Given the description of an element on the screen output the (x, y) to click on. 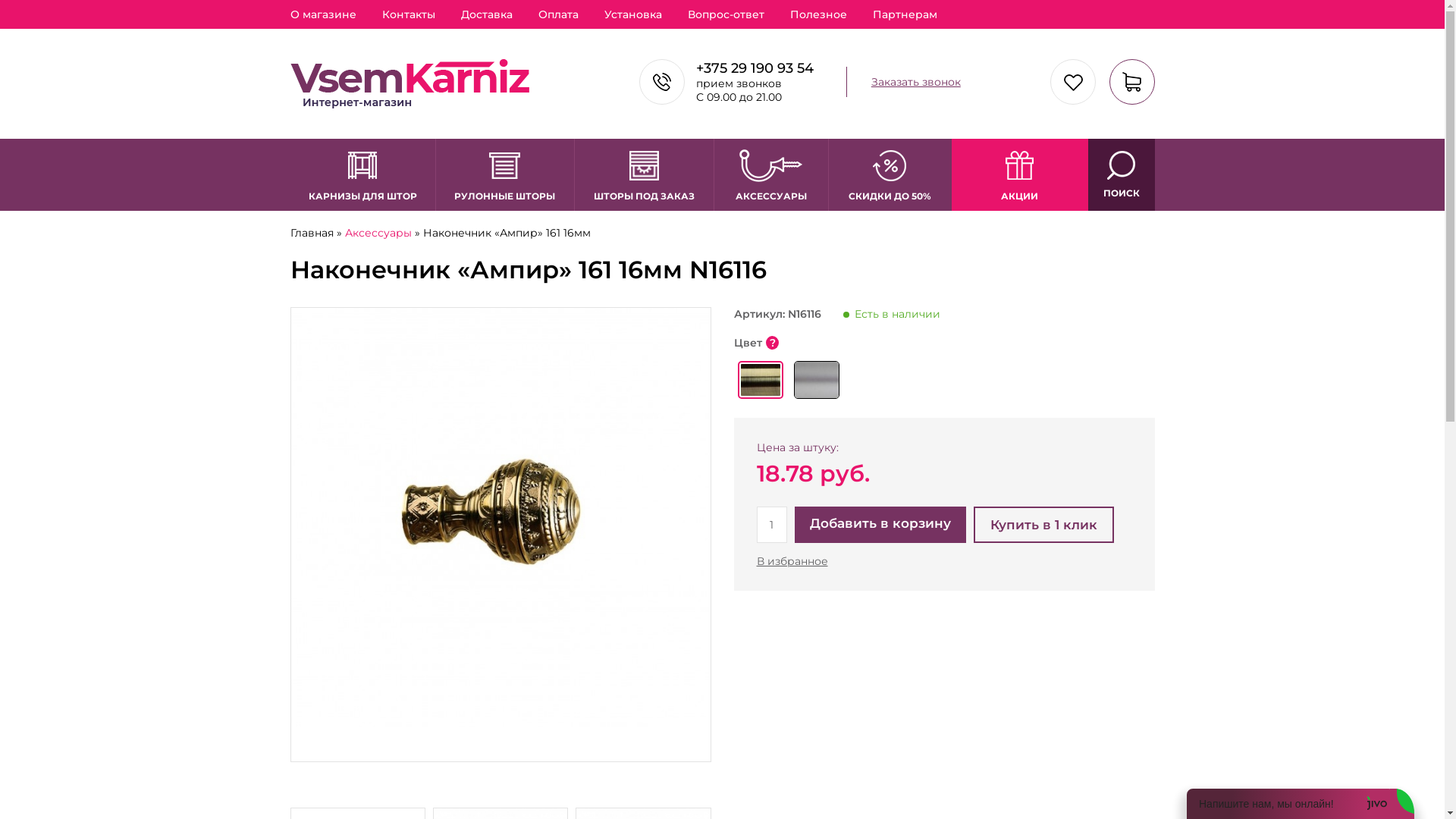
? Element type: text (771, 342)
vsemkarniz.by Element type: hover (408, 83)
+375 29 190 93 54 Element type: text (754, 67)
